Given the description of an element on the screen output the (x, y) to click on. 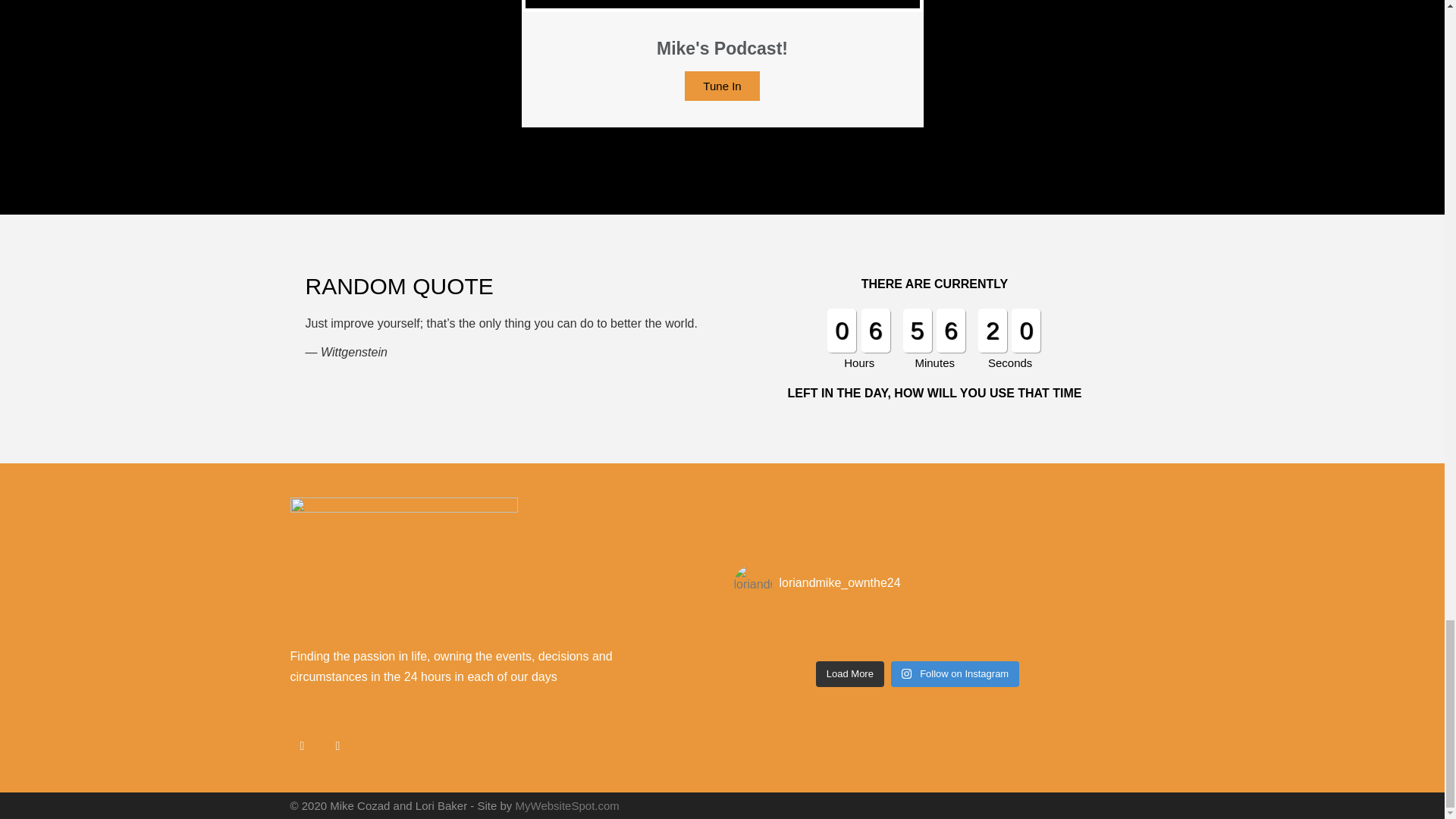
Tune In (721, 85)
